Given the description of an element on the screen output the (x, y) to click on. 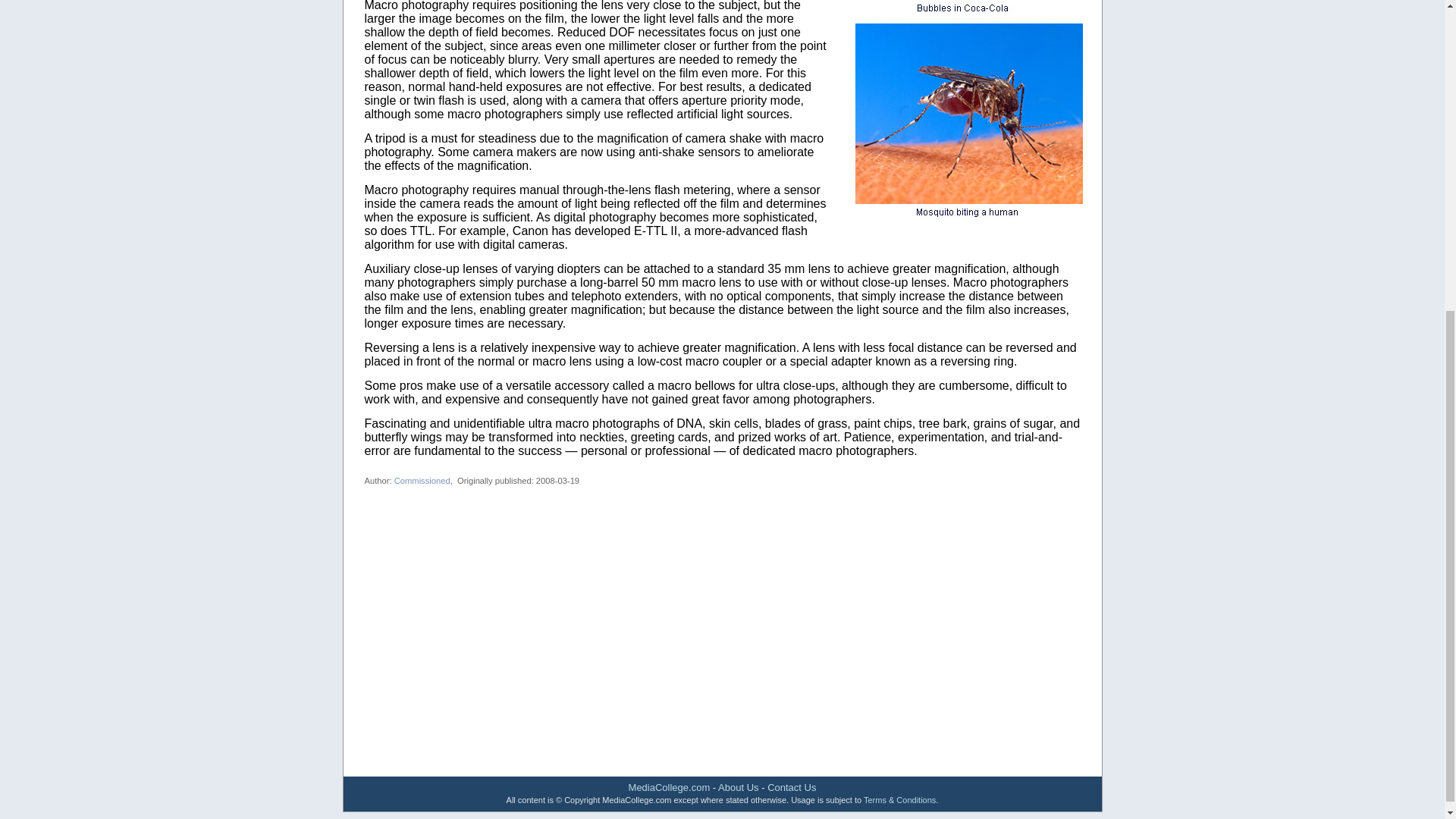
MediaCollege.com (669, 787)
Macro Photographs (969, 117)
About Us (737, 787)
Contact Us (791, 787)
Commissioned (421, 480)
